Given the description of an element on the screen output the (x, y) to click on. 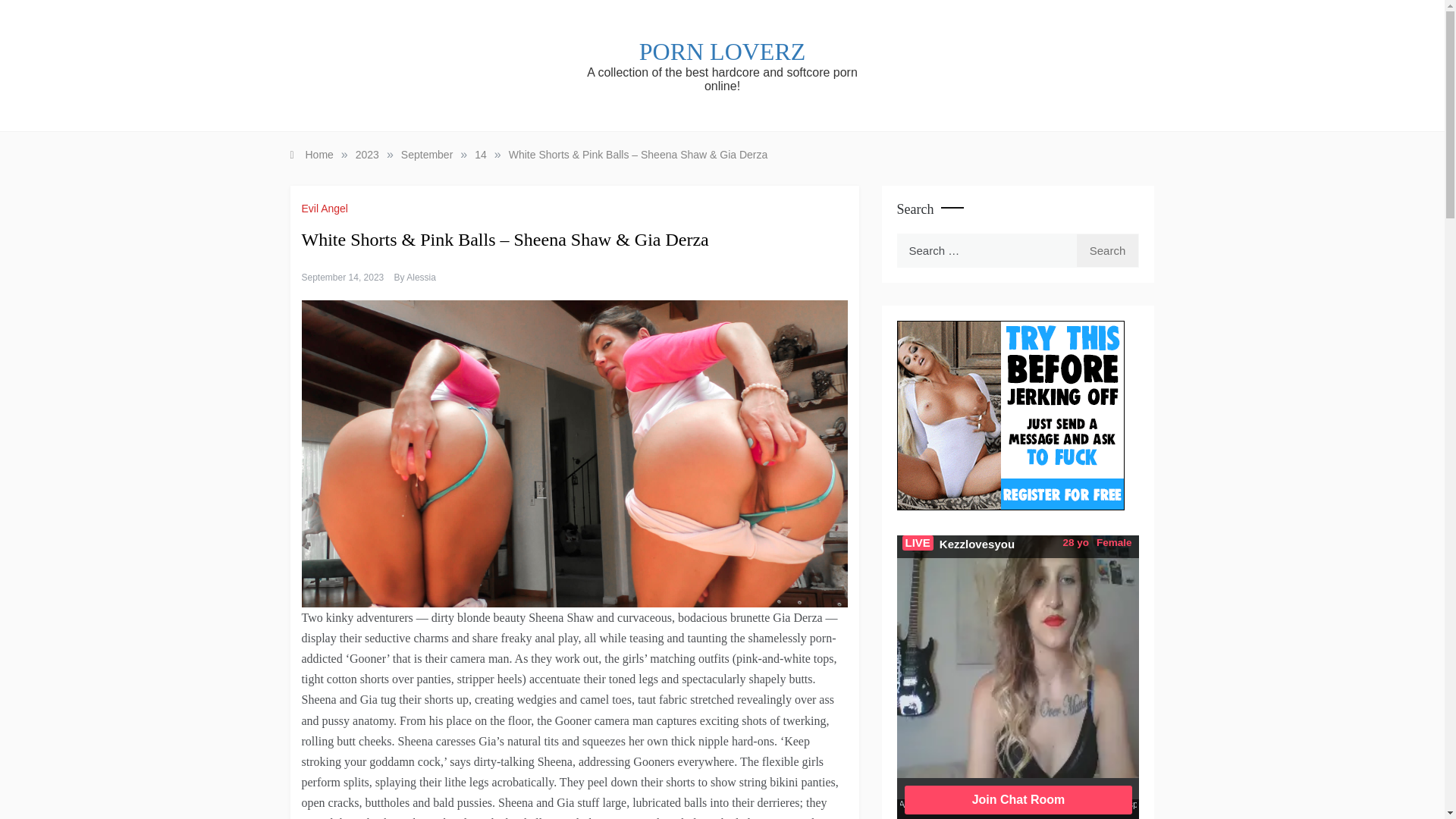
Search (1107, 250)
September 14, 2023 (342, 276)
Search (1107, 250)
Evil Angel (326, 208)
September (426, 154)
Search (1107, 250)
2023 (366, 154)
14 (480, 154)
Home (311, 154)
Alessia (420, 276)
PORN LOVERZ (722, 51)
